Given the description of an element on the screen output the (x, y) to click on. 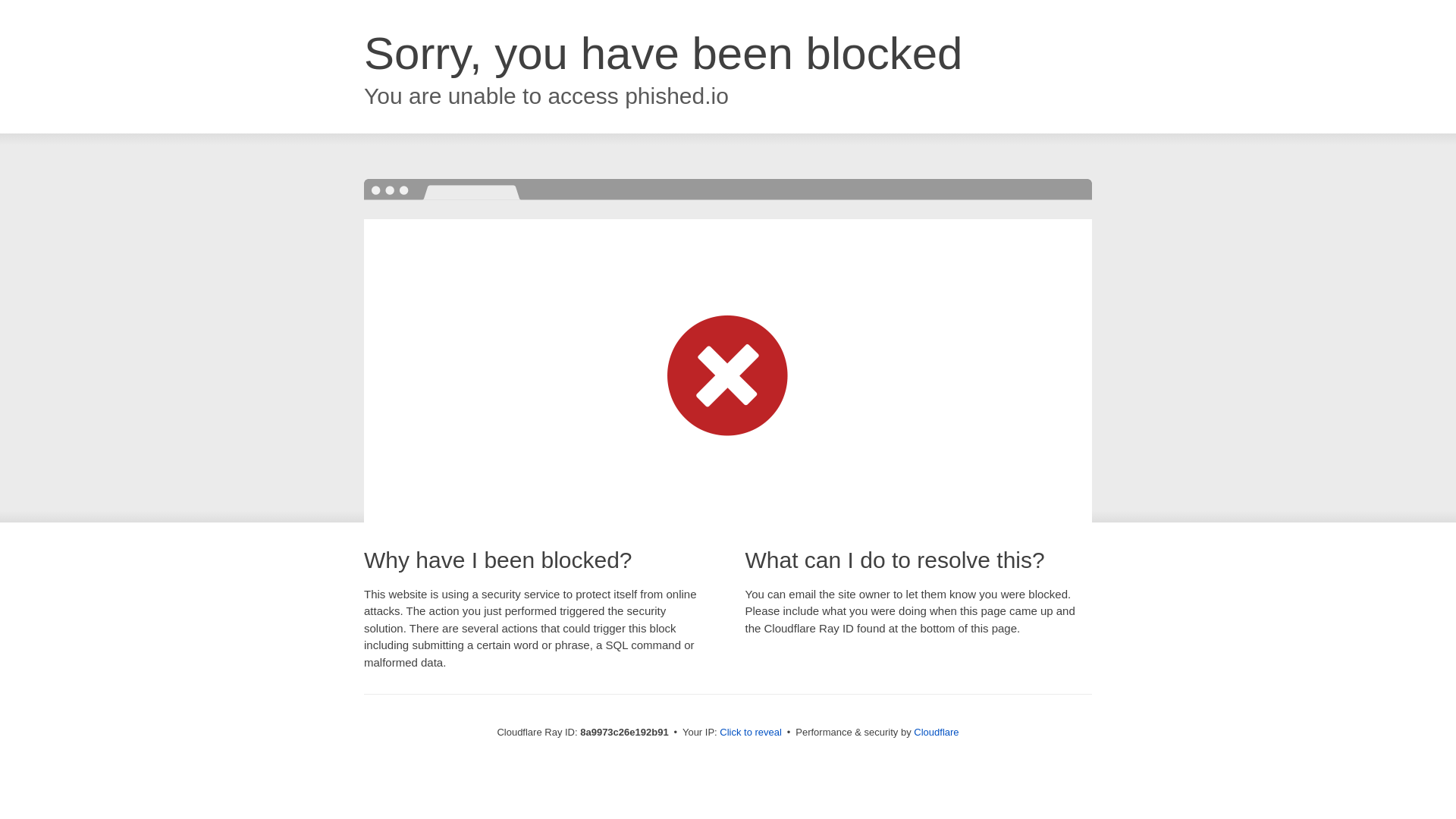
Cloudflare (936, 731)
Click to reveal (750, 732)
